Given the description of an element on the screen output the (x, y) to click on. 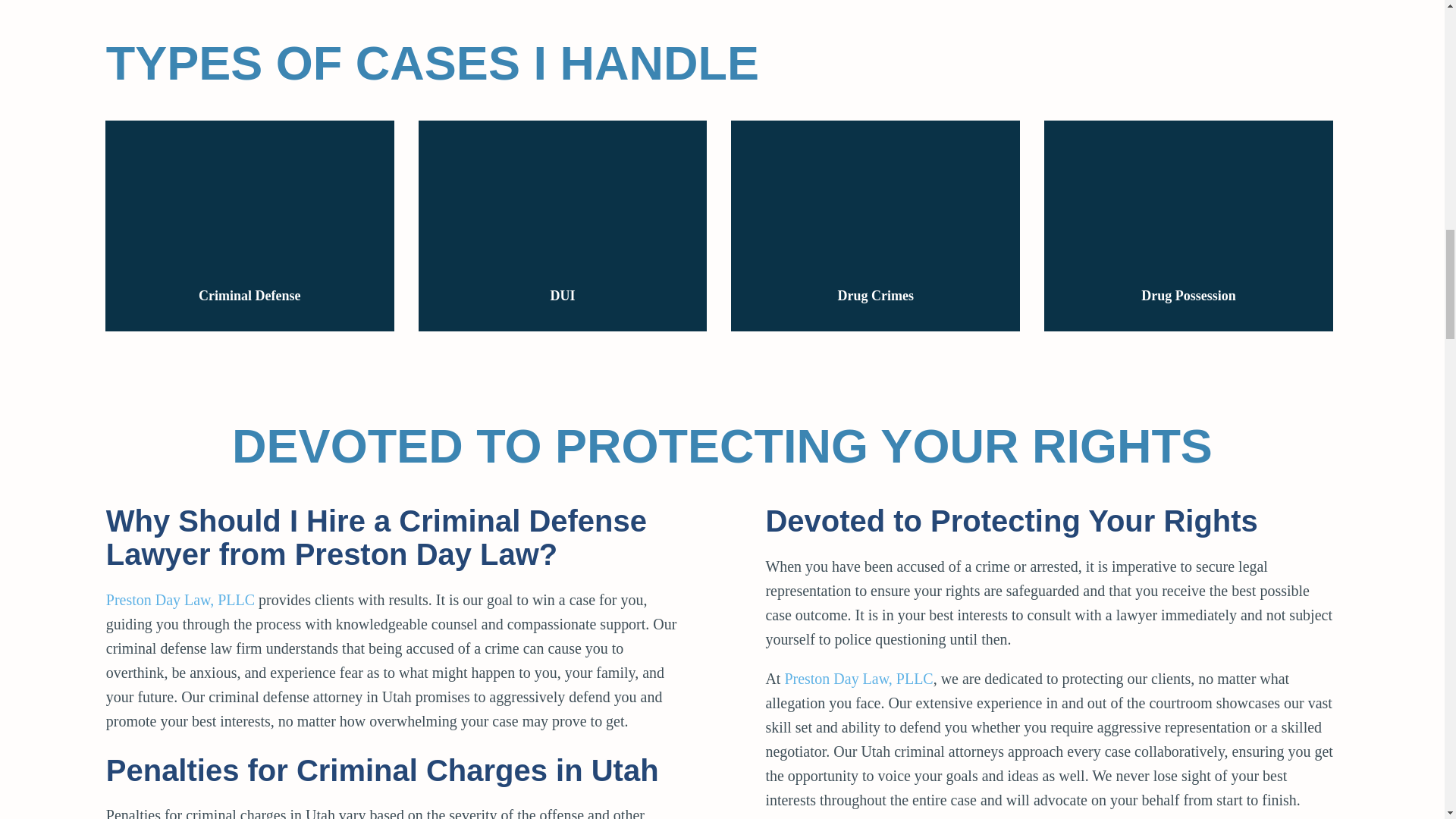
Preston Day Law, PLLC (858, 678)
Drug Crimes (875, 226)
Criminal Defense (249, 226)
Preston Day Law, PLLC (180, 599)
Drug Possession (1188, 226)
DUI (563, 226)
